Given the description of an element on the screen output the (x, y) to click on. 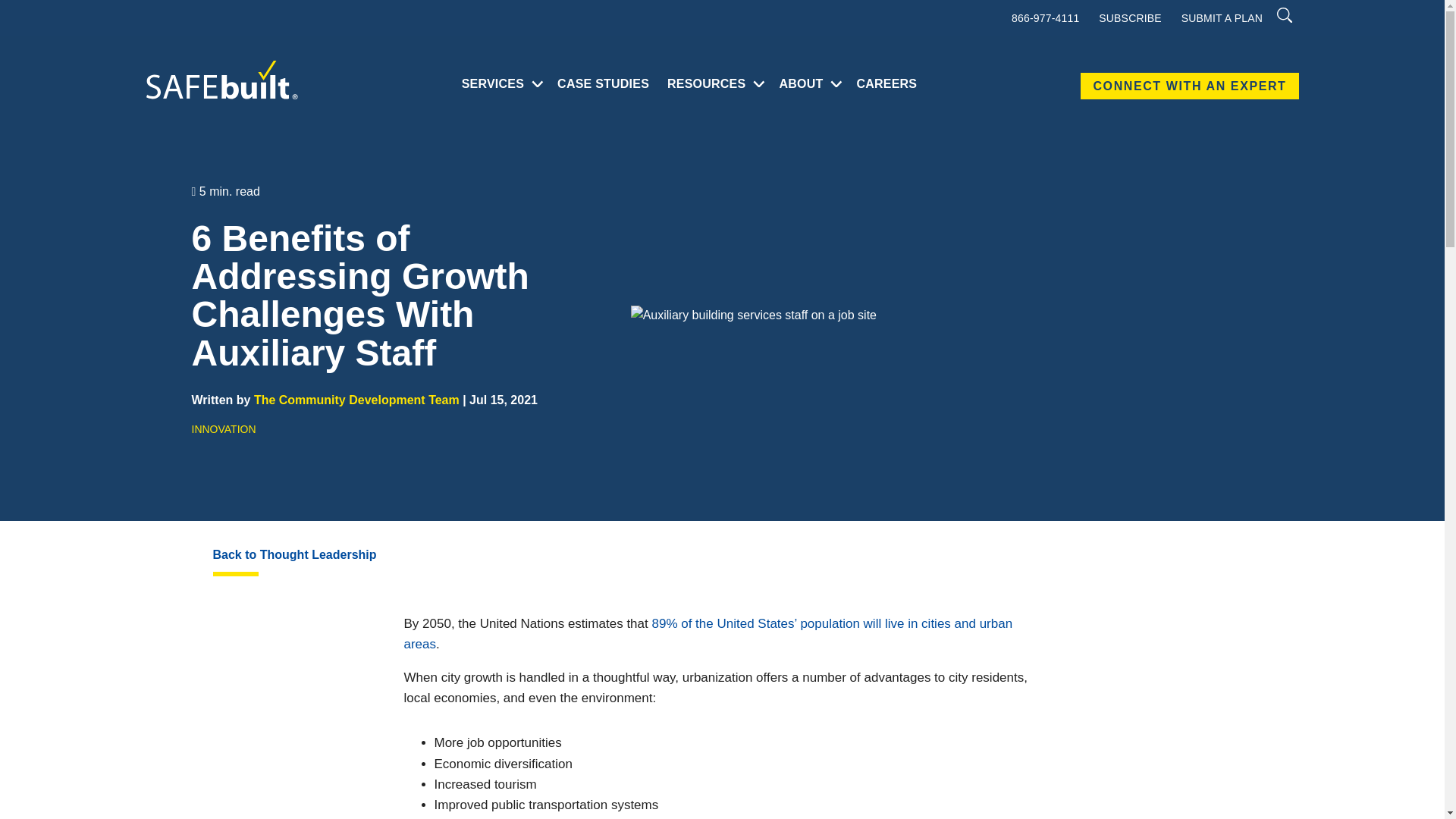
SUBMIT A PLAN (1221, 17)
SERVICES (492, 83)
SUBSCRIBE (1130, 17)
SAFEbuilt (221, 79)
866-977-4111 (1045, 17)
